Given the description of an element on the screen output the (x, y) to click on. 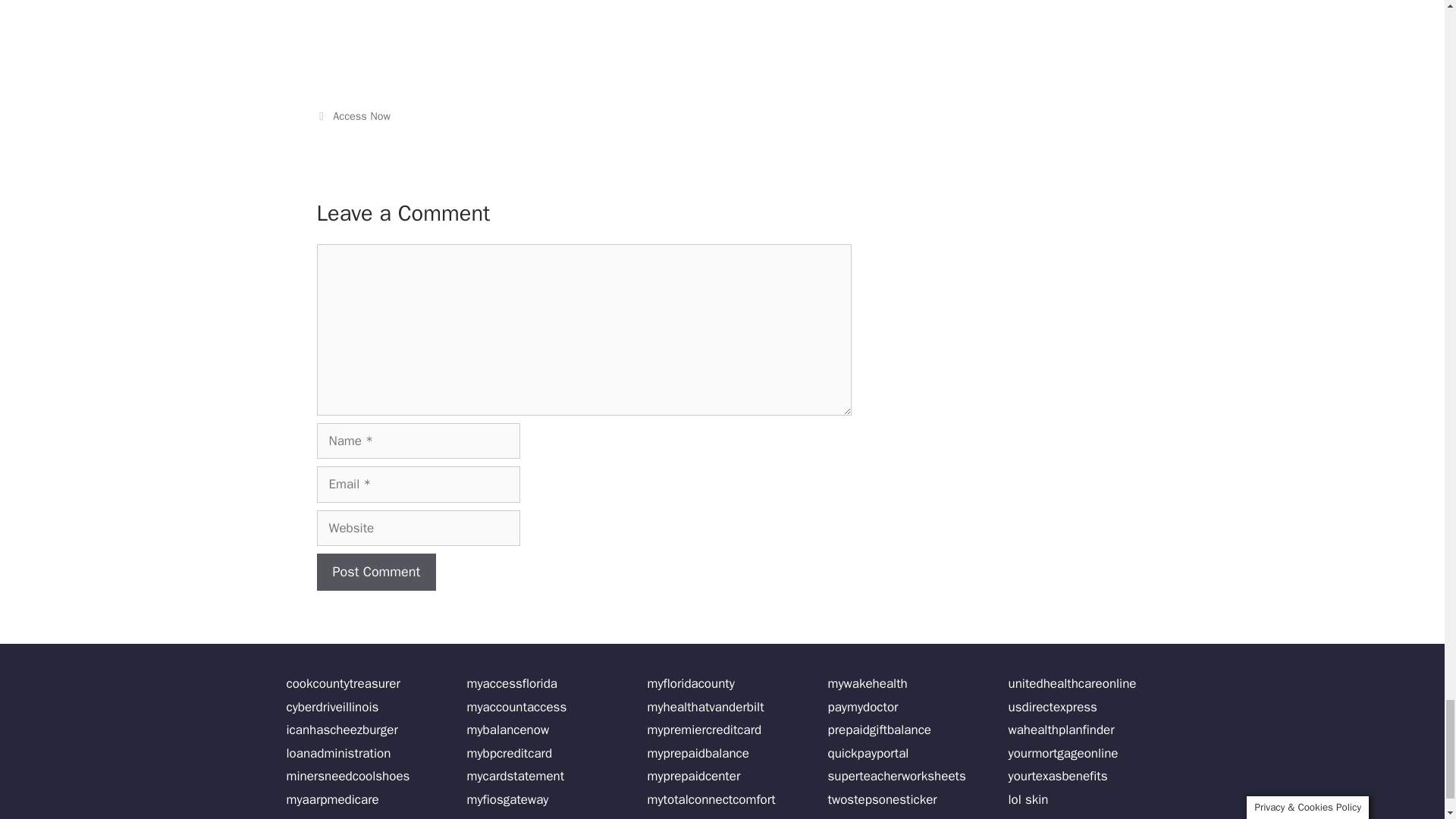
Post Comment (376, 571)
Post Comment (376, 571)
Access Now (361, 115)
